Given the description of an element on the screen output the (x, y) to click on. 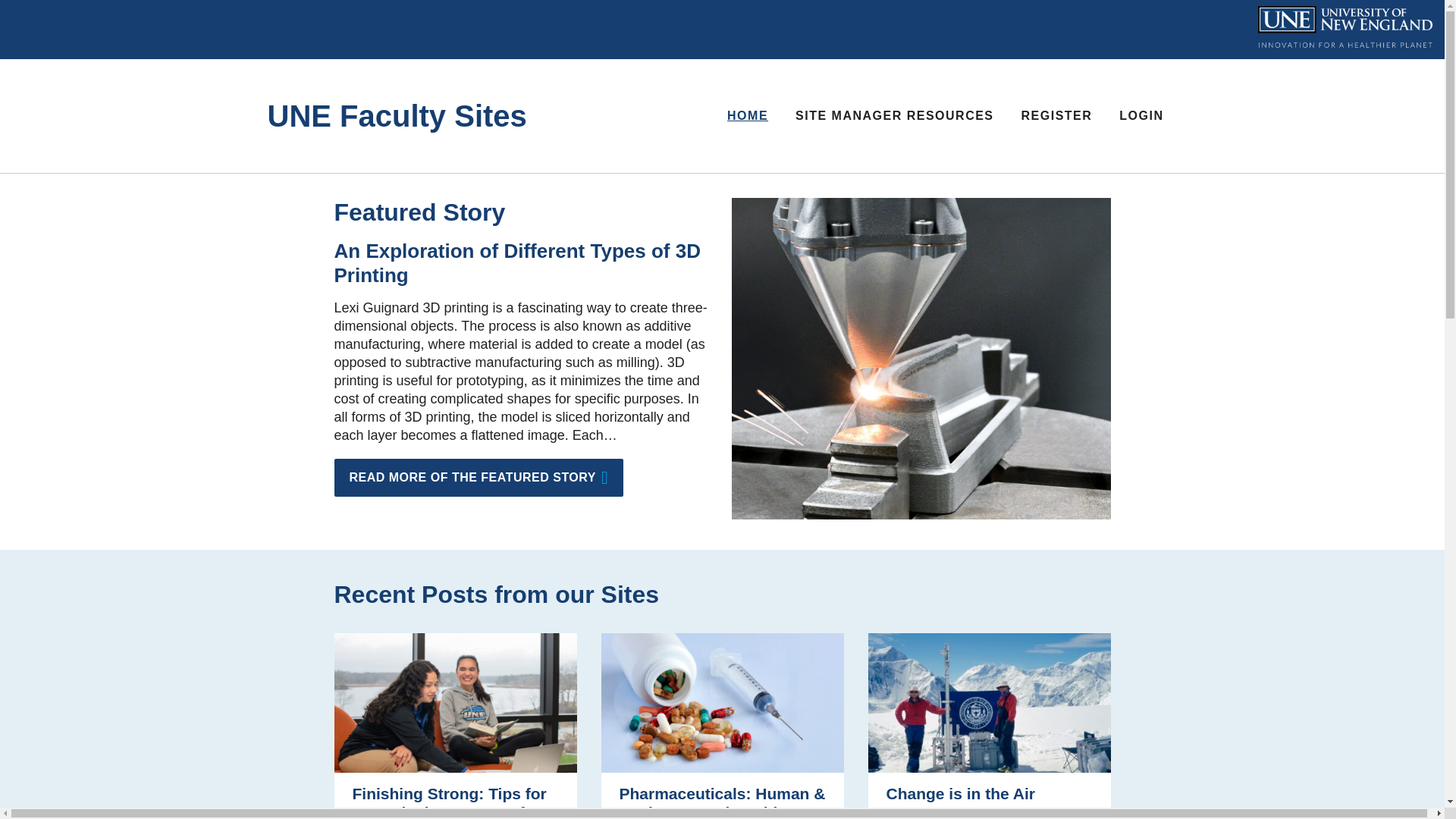
UNE Faculty Sites (406, 115)
Change is in the Air (959, 793)
READ MORE OF THE FEATURED STORY (478, 477)
SITE MANAGER RESOURCES (894, 115)
REGISTER (1056, 115)
An Exploration of Different Types of 3D Printing (516, 262)
UNE NORTH: Center for North Atlantic Studies (988, 814)
HOME (747, 115)
LOGIN (1140, 115)
